Given the description of an element on the screen output the (x, y) to click on. 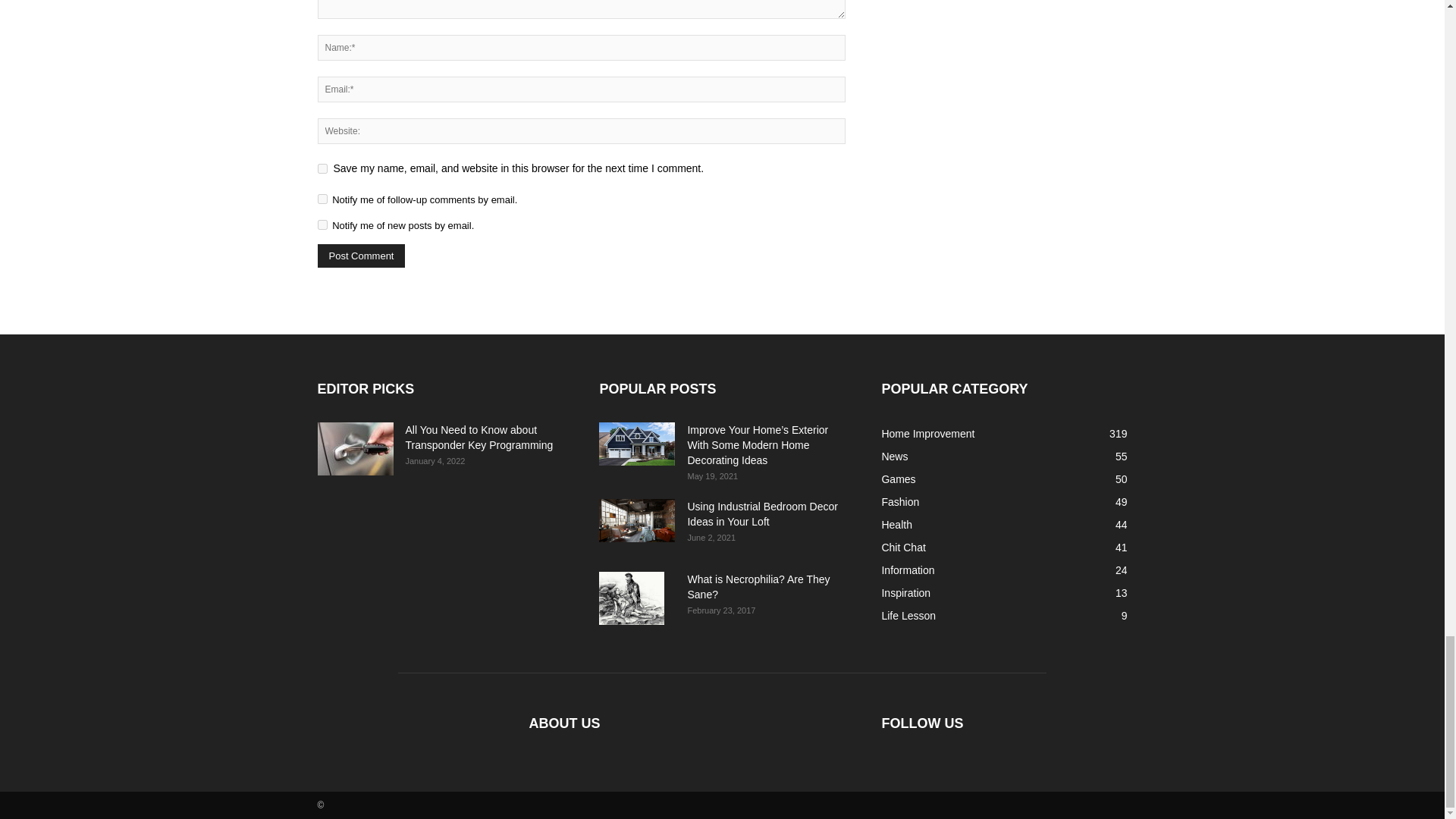
subscribe (321, 198)
Post Comment (360, 255)
subscribe (321, 225)
yes (321, 168)
